Given the description of an element on the screen output the (x, y) to click on. 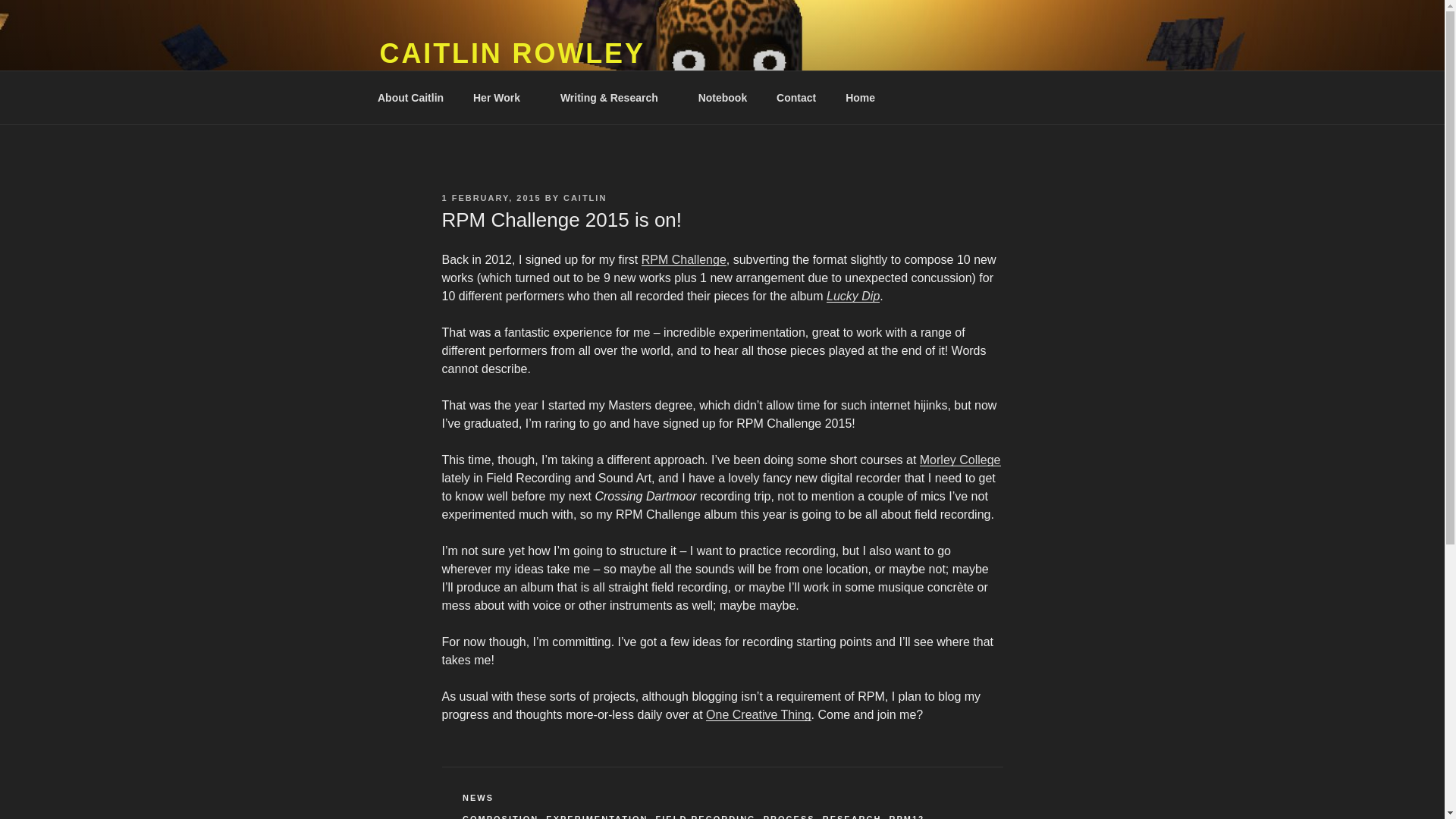
Contact Caitlin (795, 97)
Contact (795, 97)
1 FEBRUARY, 2015 (490, 197)
Home (860, 97)
RPM Challenge website (684, 259)
COMPOSITION (500, 816)
RESEARCH (852, 816)
RPM Challenge (684, 259)
FIELD RECORDING (705, 816)
Morley College (960, 459)
EXPERIMENTATION (596, 816)
CAITLIN (585, 197)
NEWS (478, 797)
CAITLIN ROWLEY (511, 52)
Lucky Dip project (853, 295)
